Given the description of an element on the screen output the (x, y) to click on. 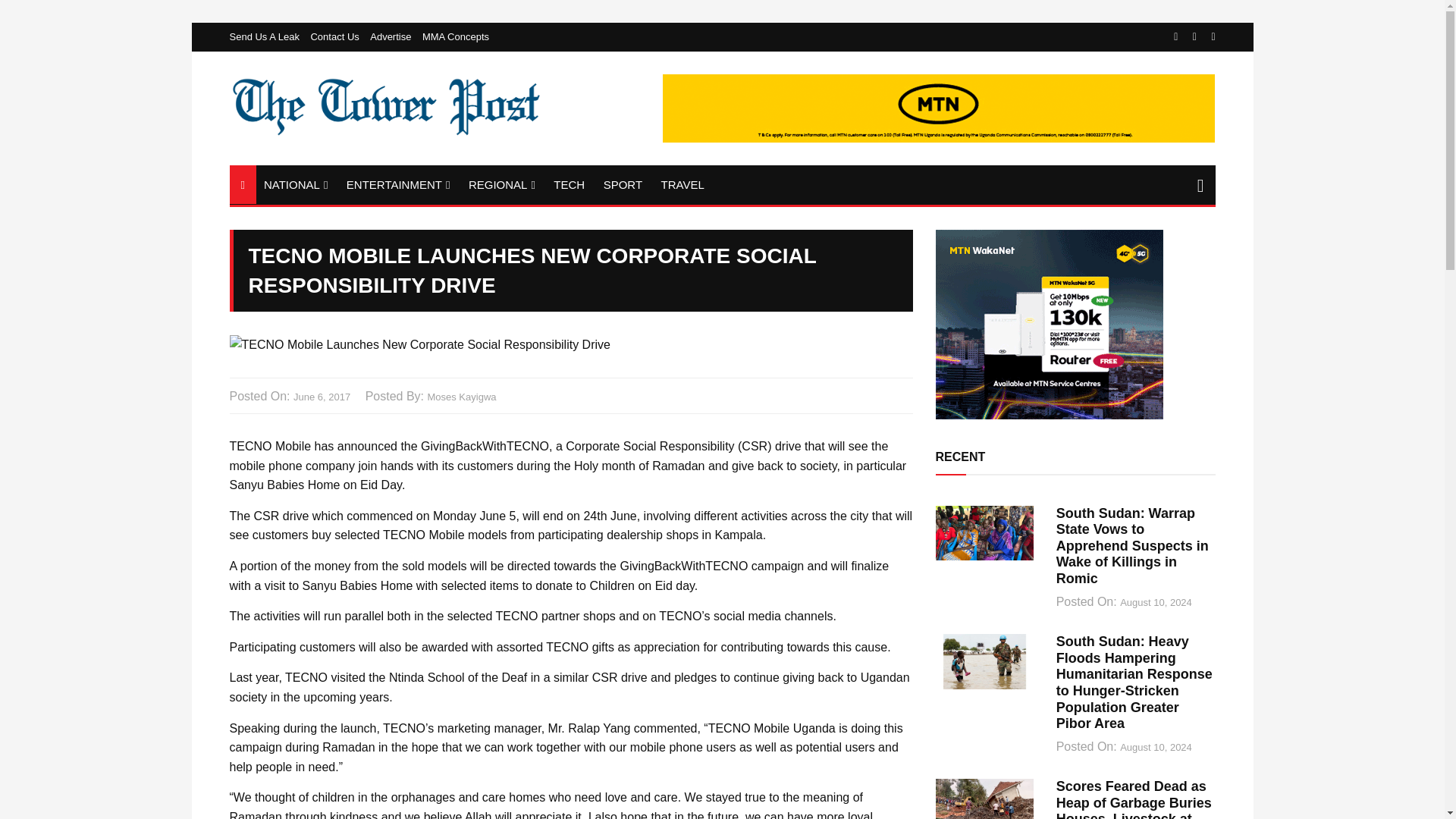
MMA Concepts (455, 36)
ENTERTAINMENT (398, 184)
Advertise (394, 36)
REGIONAL (502, 184)
SPORT (622, 184)
Send Us A Leak (267, 36)
TECH (569, 184)
Contact Us (338, 36)
NATIONAL (295, 184)
TRAVEL (682, 184)
